Given the description of an element on the screen output the (x, y) to click on. 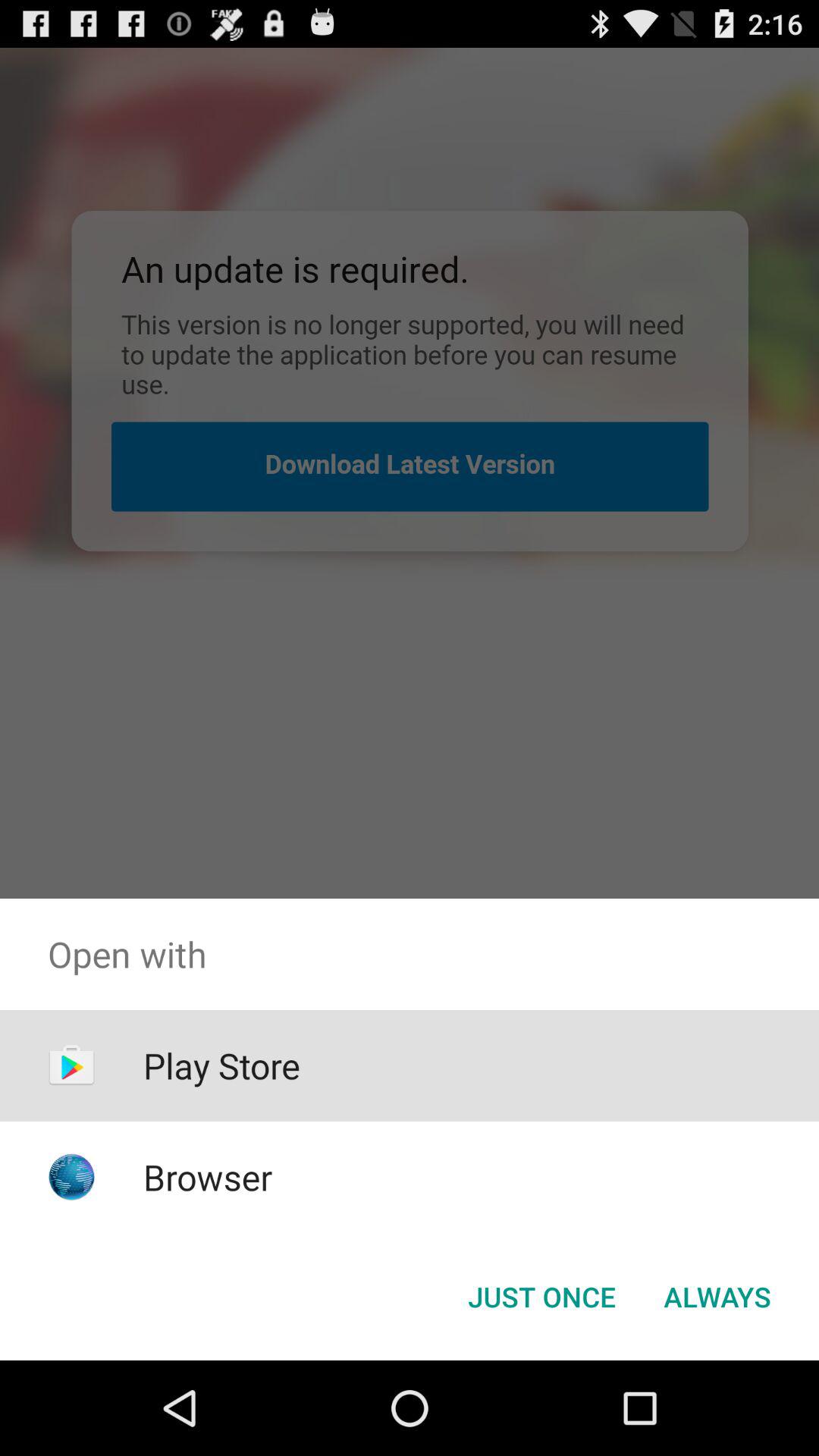
turn off browser icon (207, 1176)
